Given the description of an element on the screen output the (x, y) to click on. 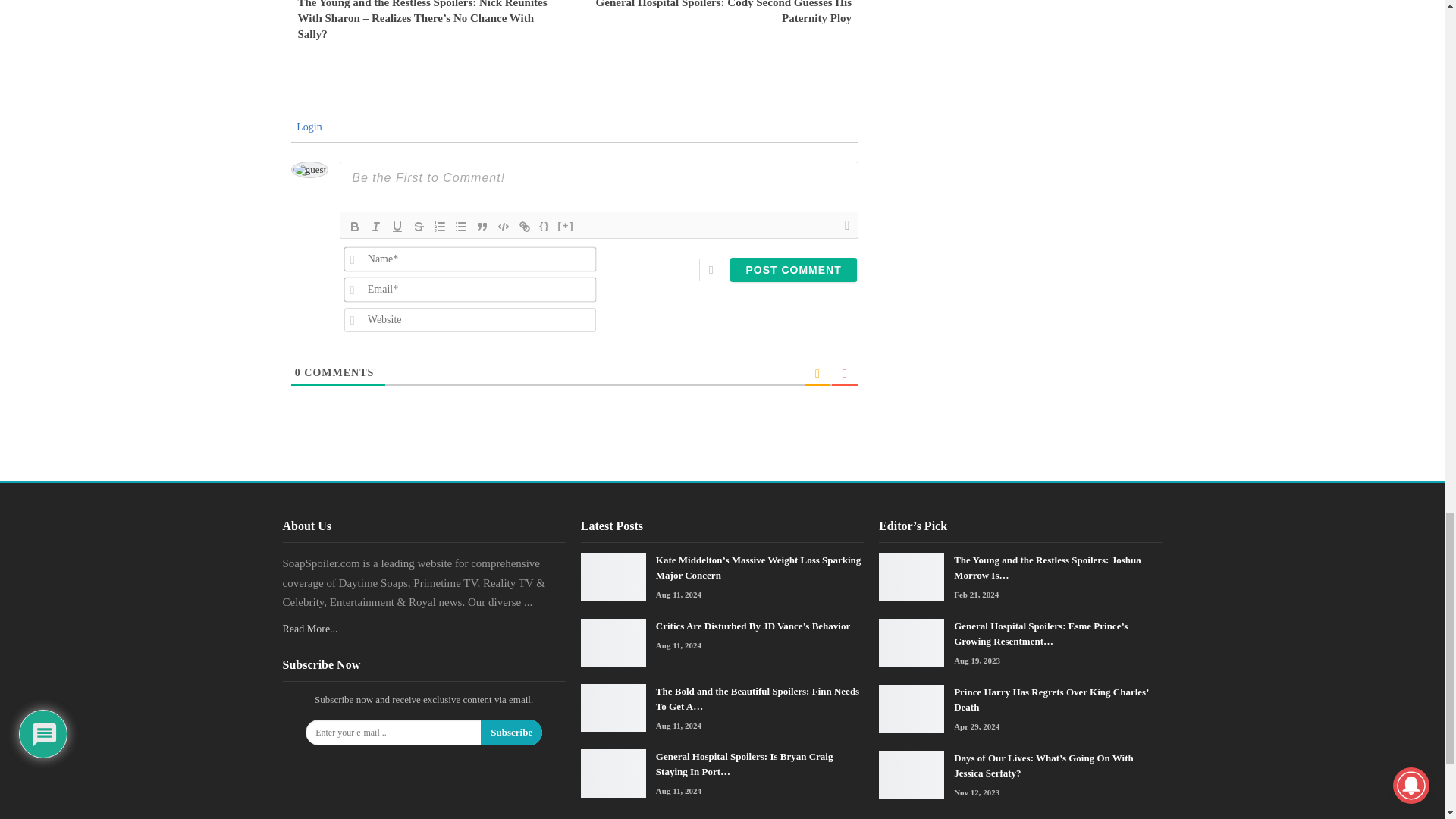
Ordered List (439, 226)
Source Code (544, 226)
Bold (354, 226)
Italic (376, 226)
Strike (418, 226)
Blockquote (482, 226)
Code Block (503, 226)
Link (524, 226)
Unordered List (460, 226)
Post Comment (793, 269)
